Given the description of an element on the screen output the (x, y) to click on. 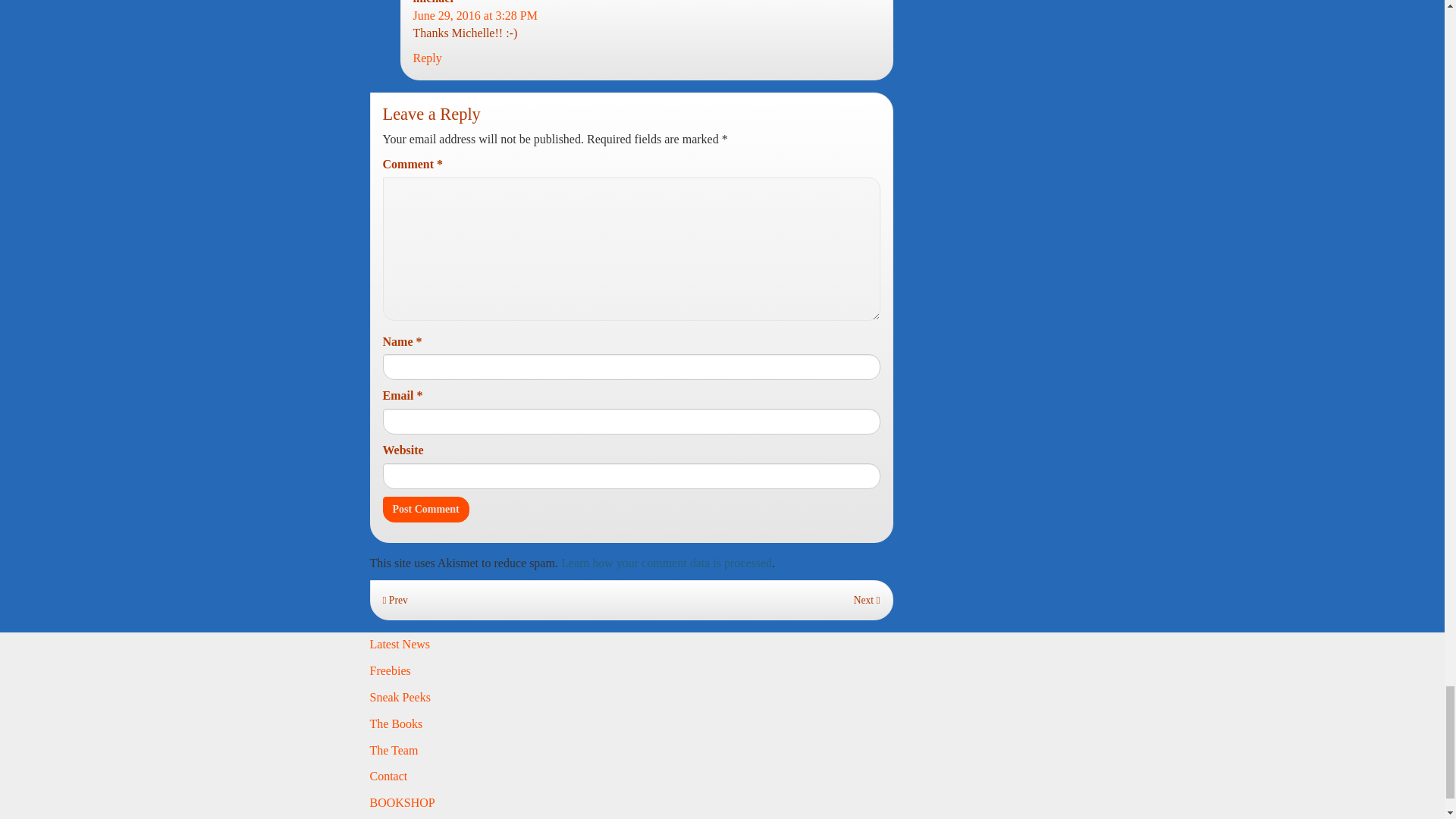
Prev (394, 600)
Post Comment (424, 509)
June 29, 2016 at 3:28 PM (474, 15)
Post Comment (424, 509)
Next (866, 600)
Reply (426, 57)
Learn how your comment data is processed (665, 562)
